Given the description of an element on the screen output the (x, y) to click on. 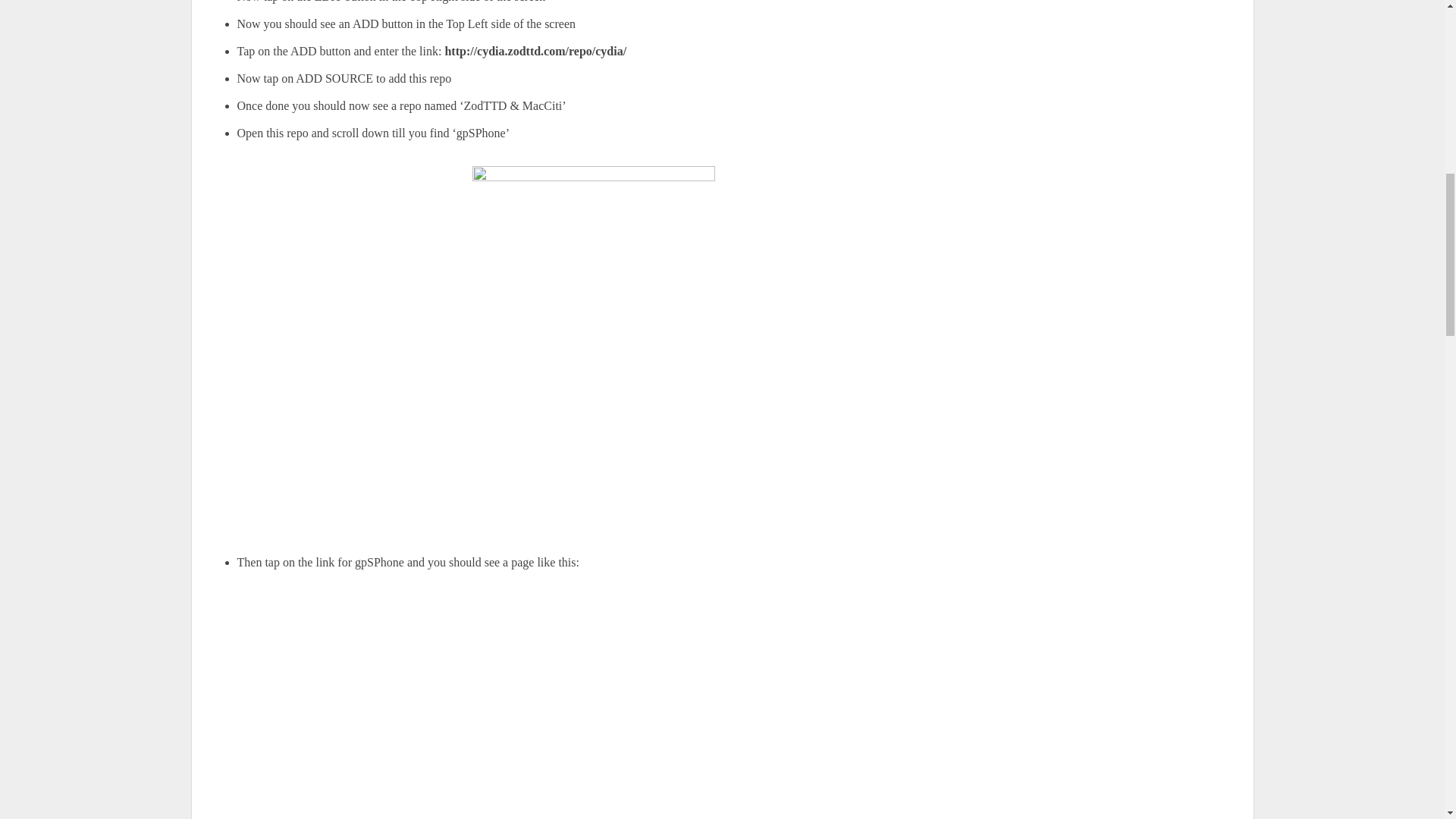
2 (592, 707)
